Given the description of an element on the screen output the (x, y) to click on. 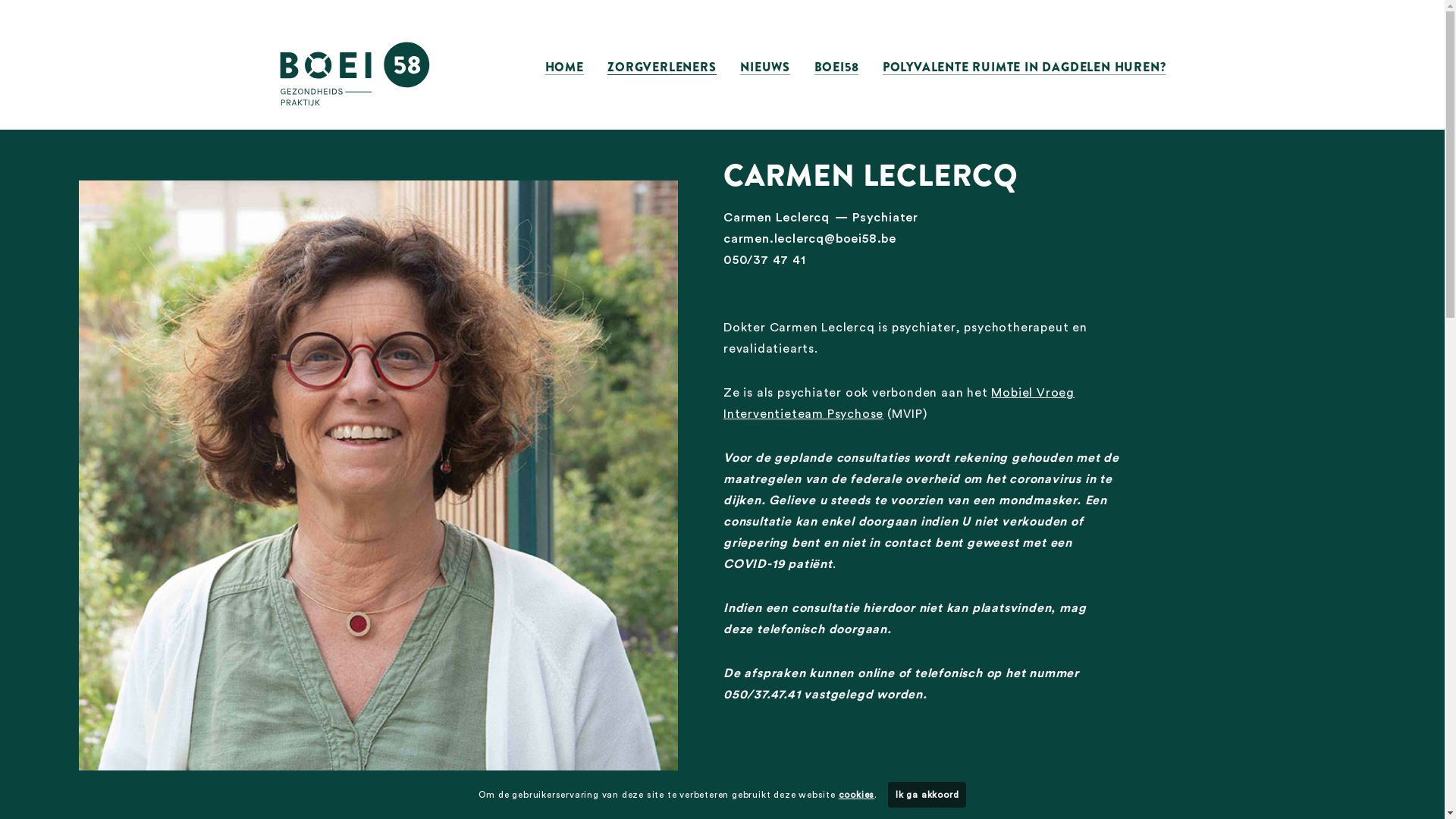
BOEI58 Element type: text (836, 67)
cookies Element type: text (856, 794)
Ik ga akkoord Element type: text (927, 794)
ZORGVERLENERS Element type: text (661, 67)
Mobiel Vroeg Interventieteam Psychose Element type: text (898, 403)
NIEUWS Element type: text (765, 67)
POLYVALENTE RUIMTE IN DAGDELEN HUREN? Element type: text (1024, 67)
050/37 47 41 Element type: text (764, 260)
carmen.leclercq@boei58.be Element type: text (809, 238)
HOME Element type: text (563, 67)
